Given the description of an element on the screen output the (x, y) to click on. 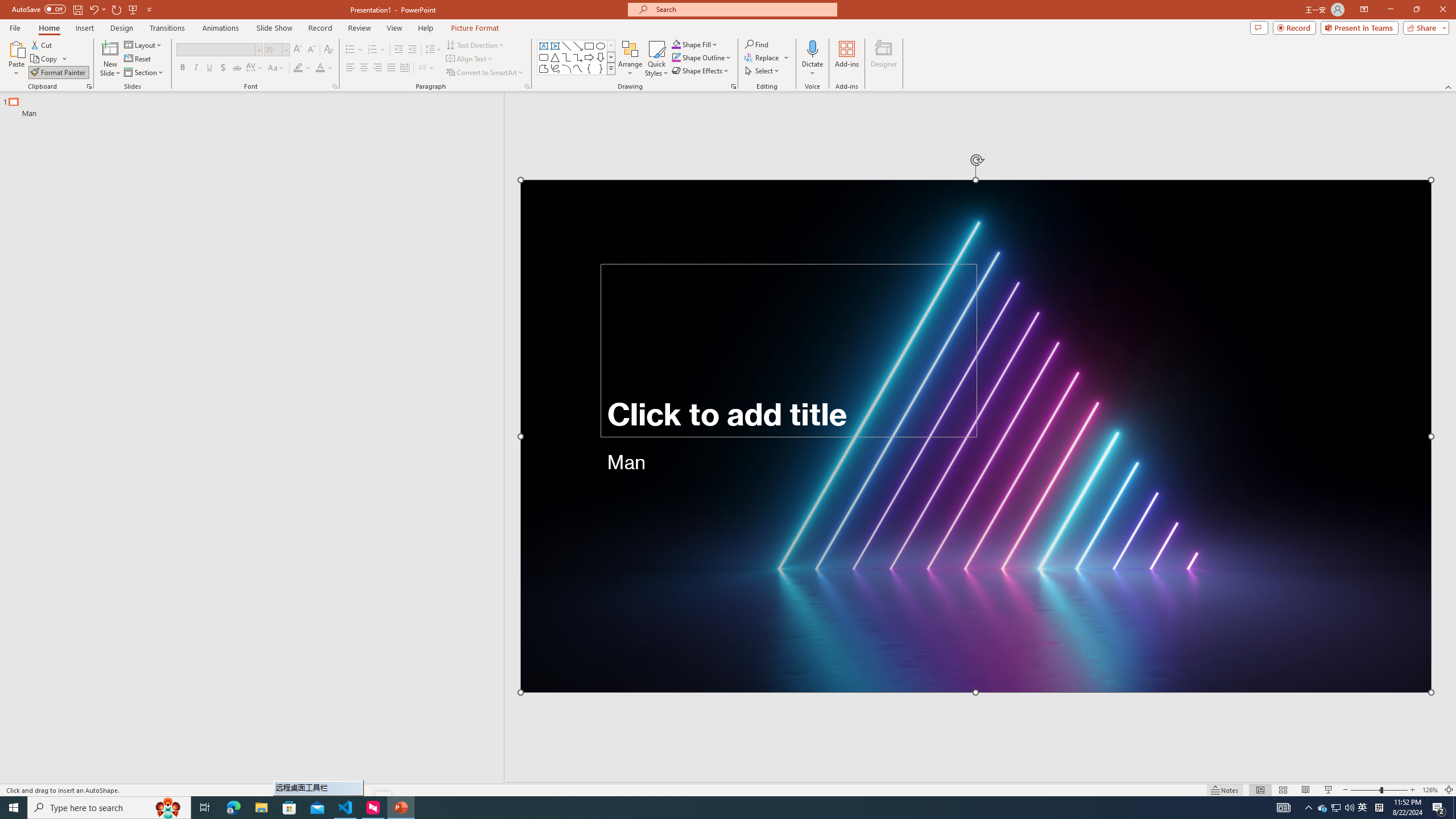
Line Arrow (577, 45)
Isosceles Triangle (554, 57)
Font... (334, 85)
Font Size (273, 49)
Rectangle: Rounded Corners (543, 57)
Layout (143, 44)
Center (363, 67)
Distributed (404, 67)
